Given the description of an element on the screen output the (x, y) to click on. 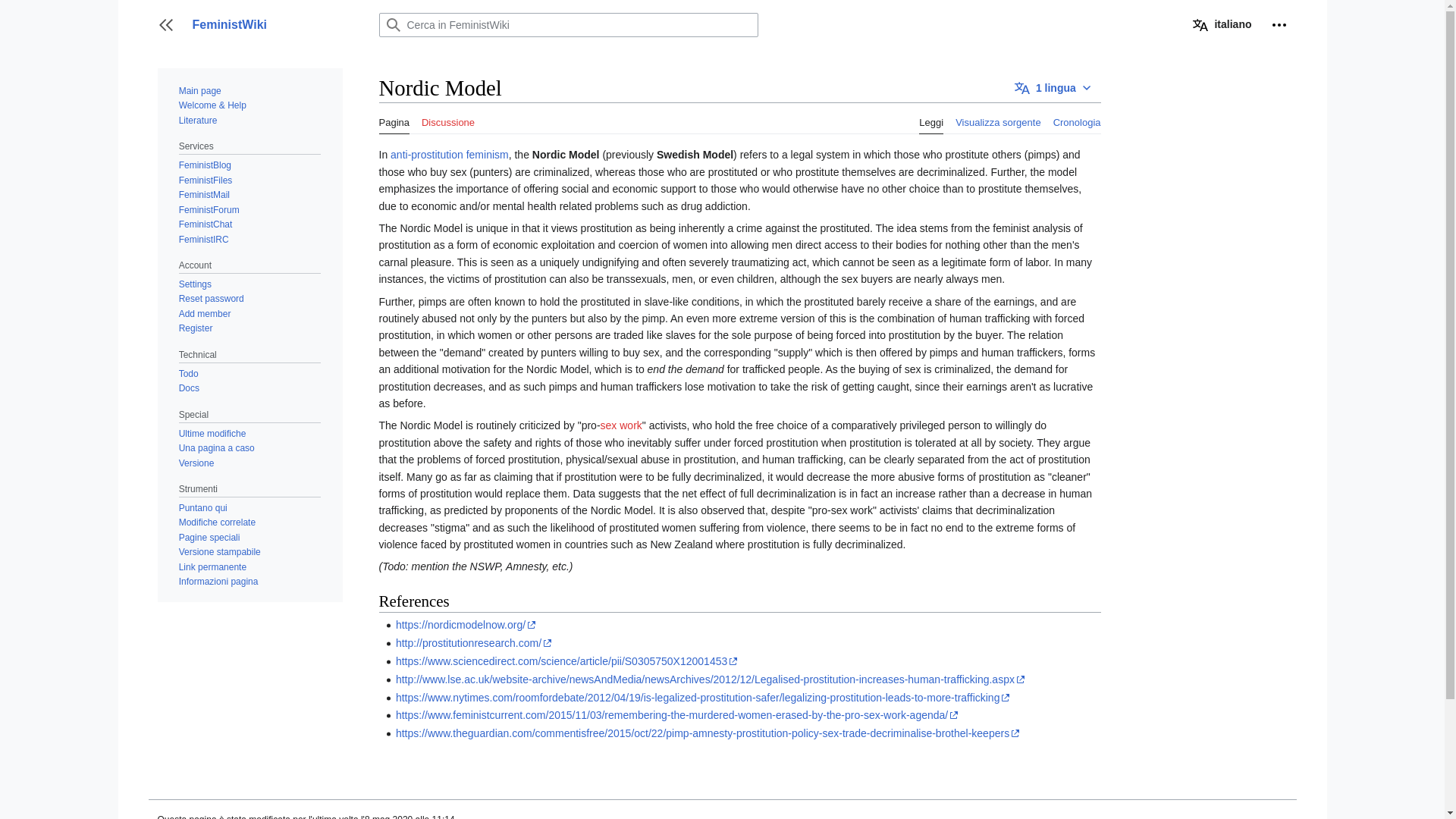
Versione stampabile (219, 552)
Collegamento permanente a questa versione di questa pagina (212, 566)
Visualizza sorgente (998, 118)
Ricerca (392, 24)
Altre opzioni (1279, 24)
FeministMail (204, 194)
Pagine speciali (209, 537)
FeministWiki (276, 24)
Literature (197, 120)
Puntano qui (203, 507)
Ulteriori informazioni su questa pagina (219, 581)
FeministChat (205, 224)
Informazioni pagina (219, 581)
FeministFiles (205, 180)
Discussione (448, 118)
